Given the description of an element on the screen output the (x, y) to click on. 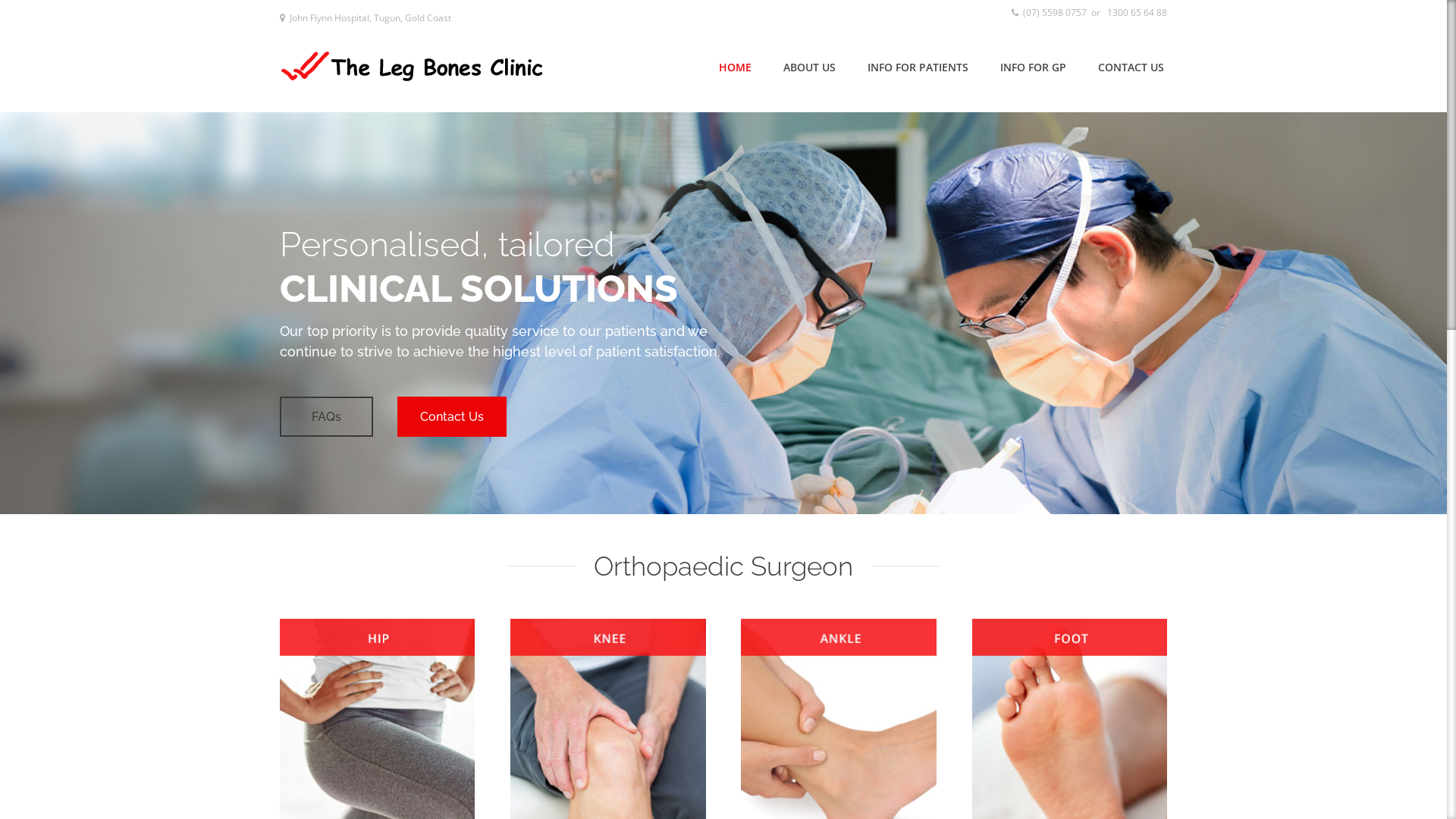
HOME Element type: text (734, 66)
INFO FOR GP Element type: text (1033, 66)
About Us Element type: text (812, 416)
INFO FOR PATIENTS Element type: text (917, 66)
Contact Us Element type: text (948, 416)
ABOUT US Element type: text (809, 66)
  John Flynn Hospital, Tugun, Gold Coast Element type: text (365, 17)
CONTACT US Element type: text (1130, 66)
